Given the description of an element on the screen output the (x, y) to click on. 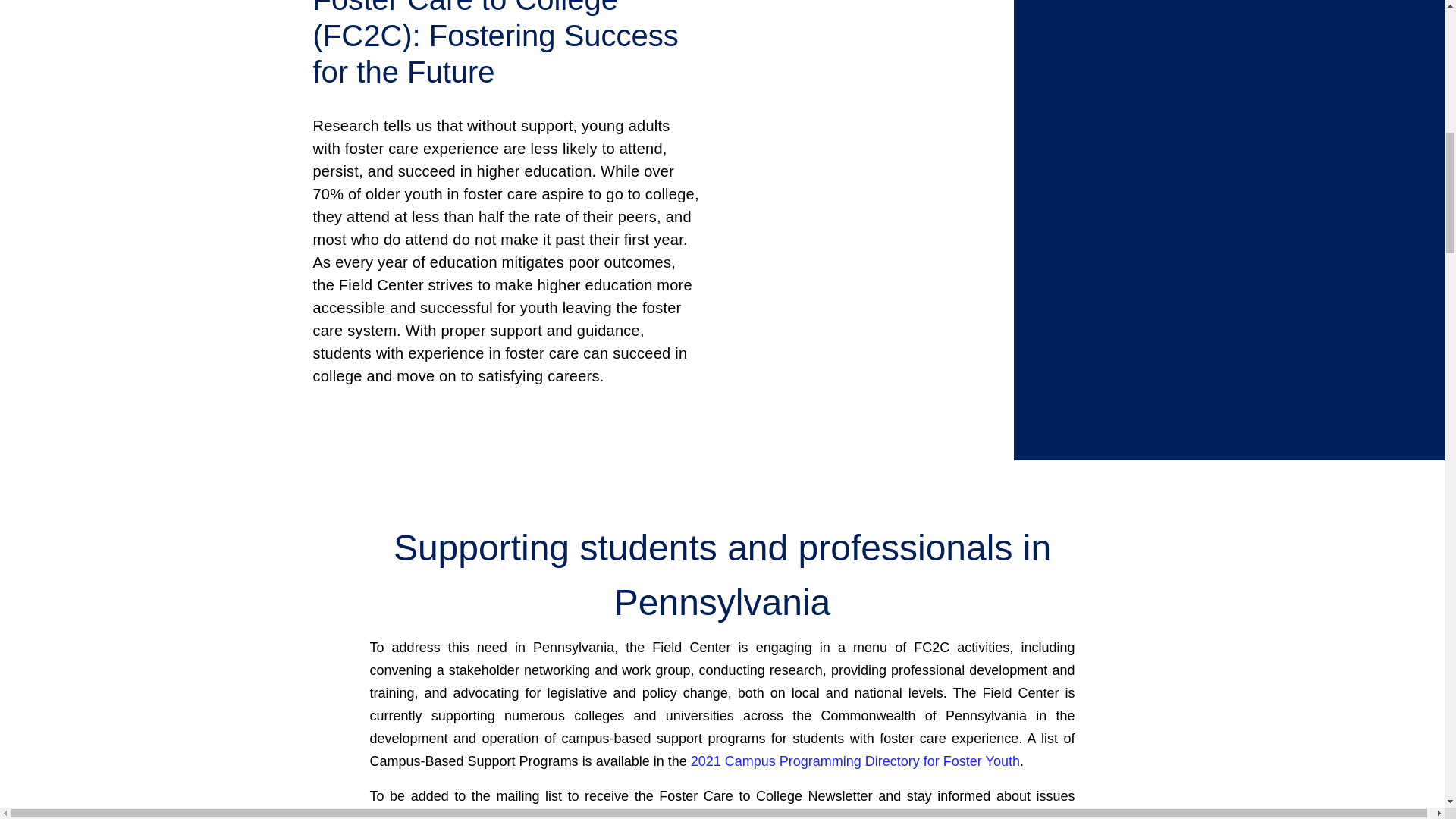
2021 Campus Programming Directory For Foster Youth (855, 761)
